Given the description of an element on the screen output the (x, y) to click on. 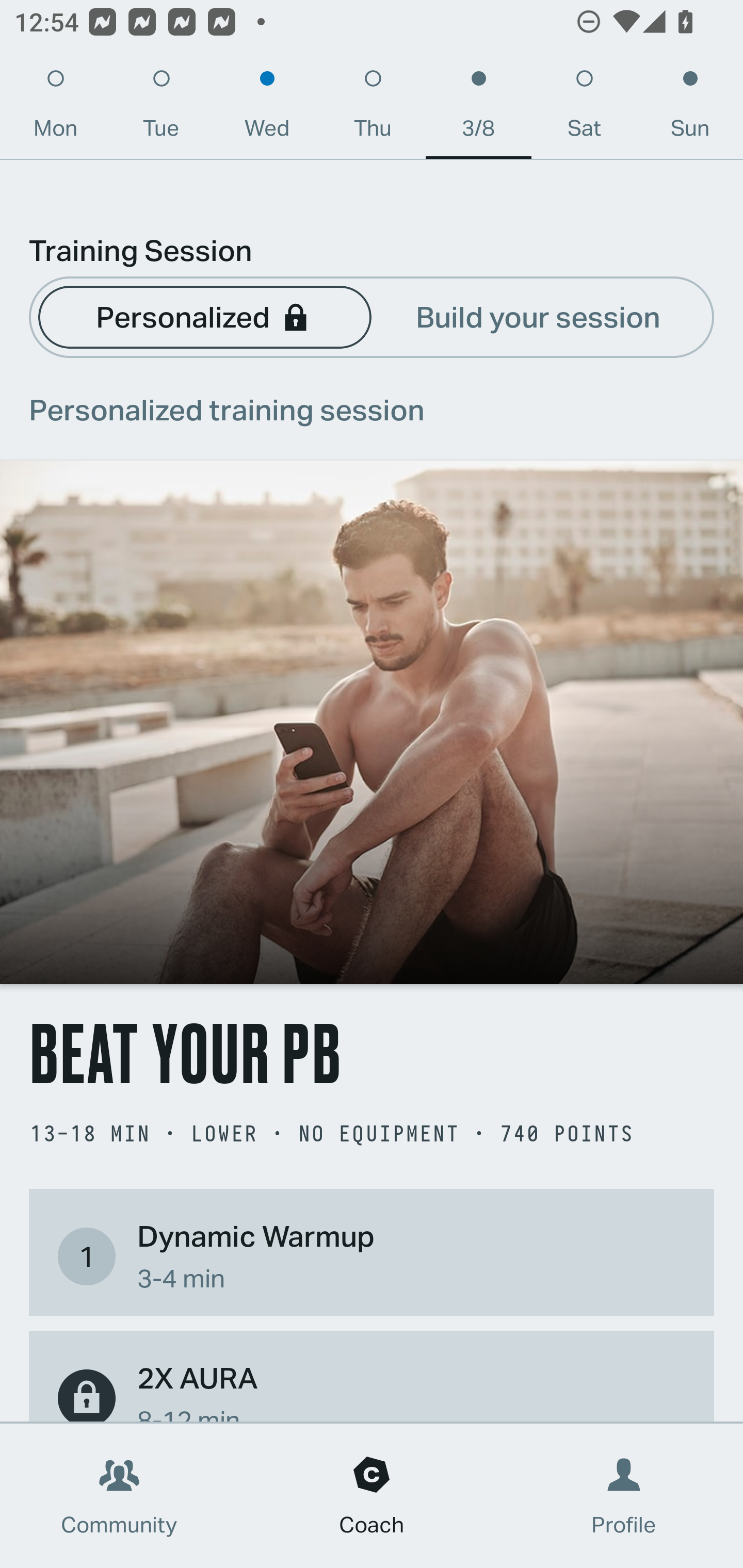
Mon (55, 108)
Tue (160, 108)
Wed (266, 108)
Thu (372, 108)
3/8 (478, 108)
Sat (584, 108)
Sun (690, 108)
Personalized (204, 315)
Build your session (538, 315)
1 Dynamic Warmup 3-4 min (371, 1256)
2X AURA 8-12 min (371, 1388)
Community (119, 1495)
Profile (624, 1495)
